Given the description of an element on the screen output the (x, y) to click on. 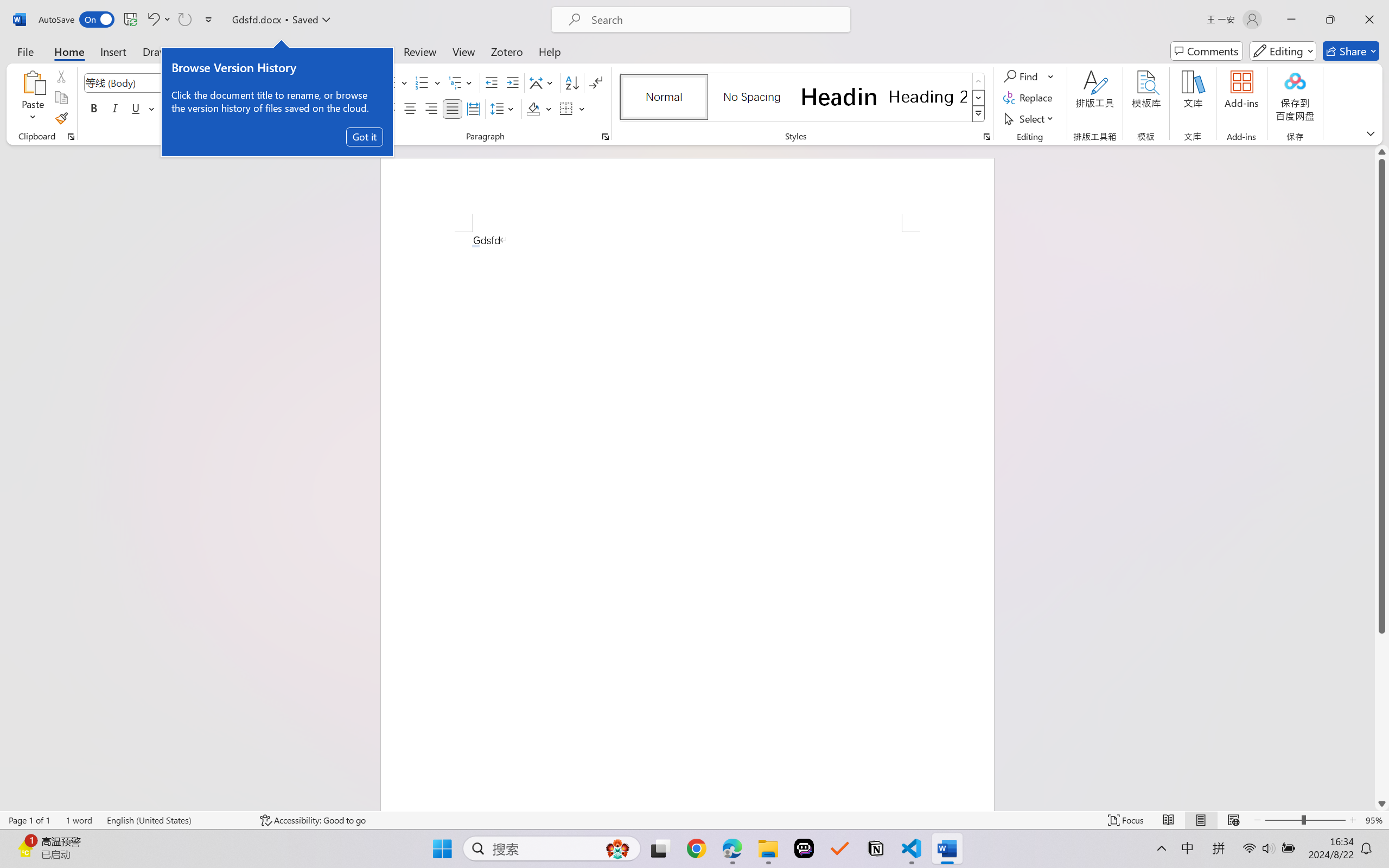
Zoom 95% (1374, 819)
Center (409, 108)
Asian Layout (542, 82)
Undo AutoCorrect (158, 19)
Row Down (978, 97)
Got it (364, 136)
Text Highlight Color (274, 108)
